Given the description of an element on the screen output the (x, y) to click on. 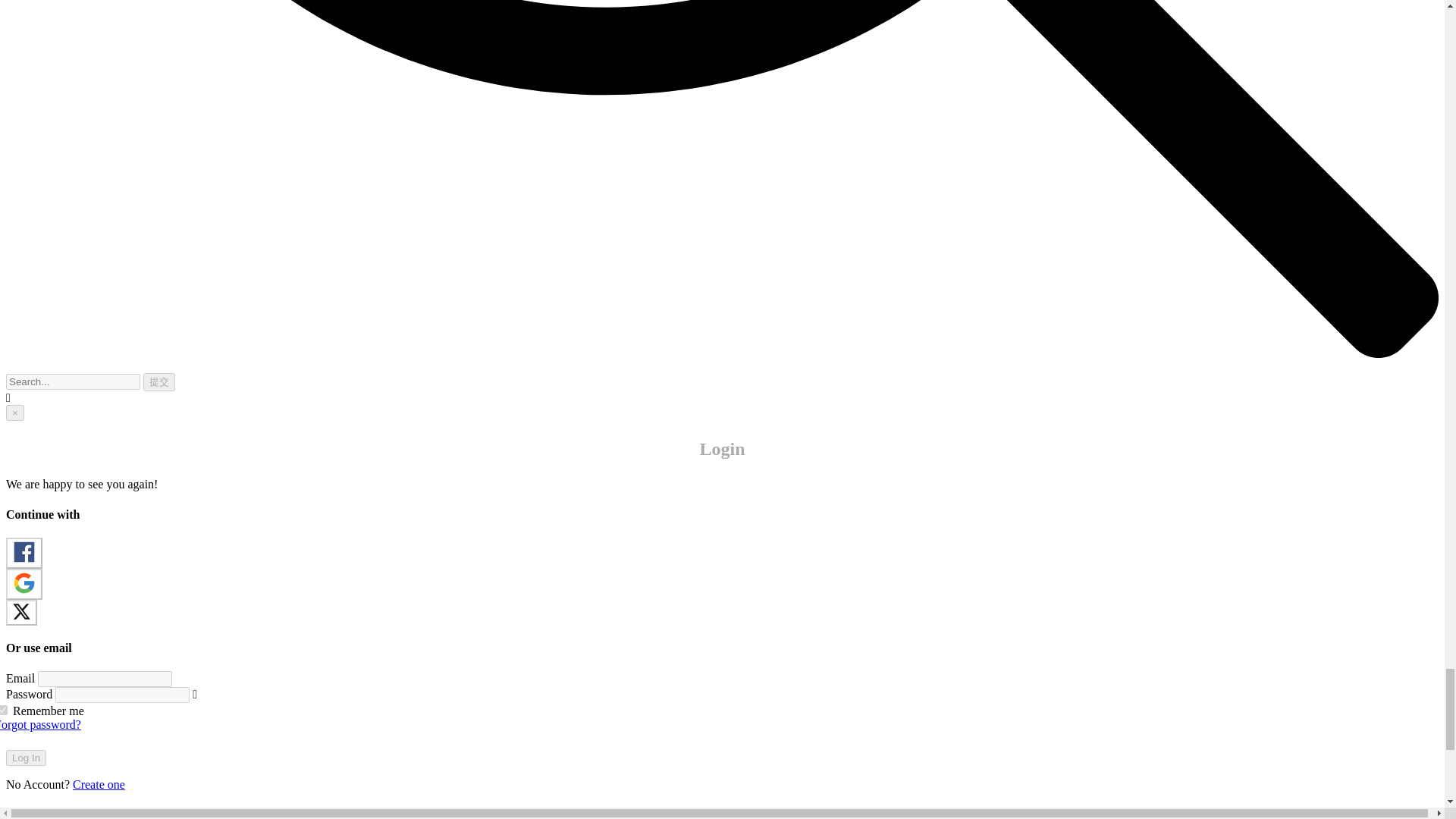
on (3, 709)
